Given the description of an element on the screen output the (x, y) to click on. 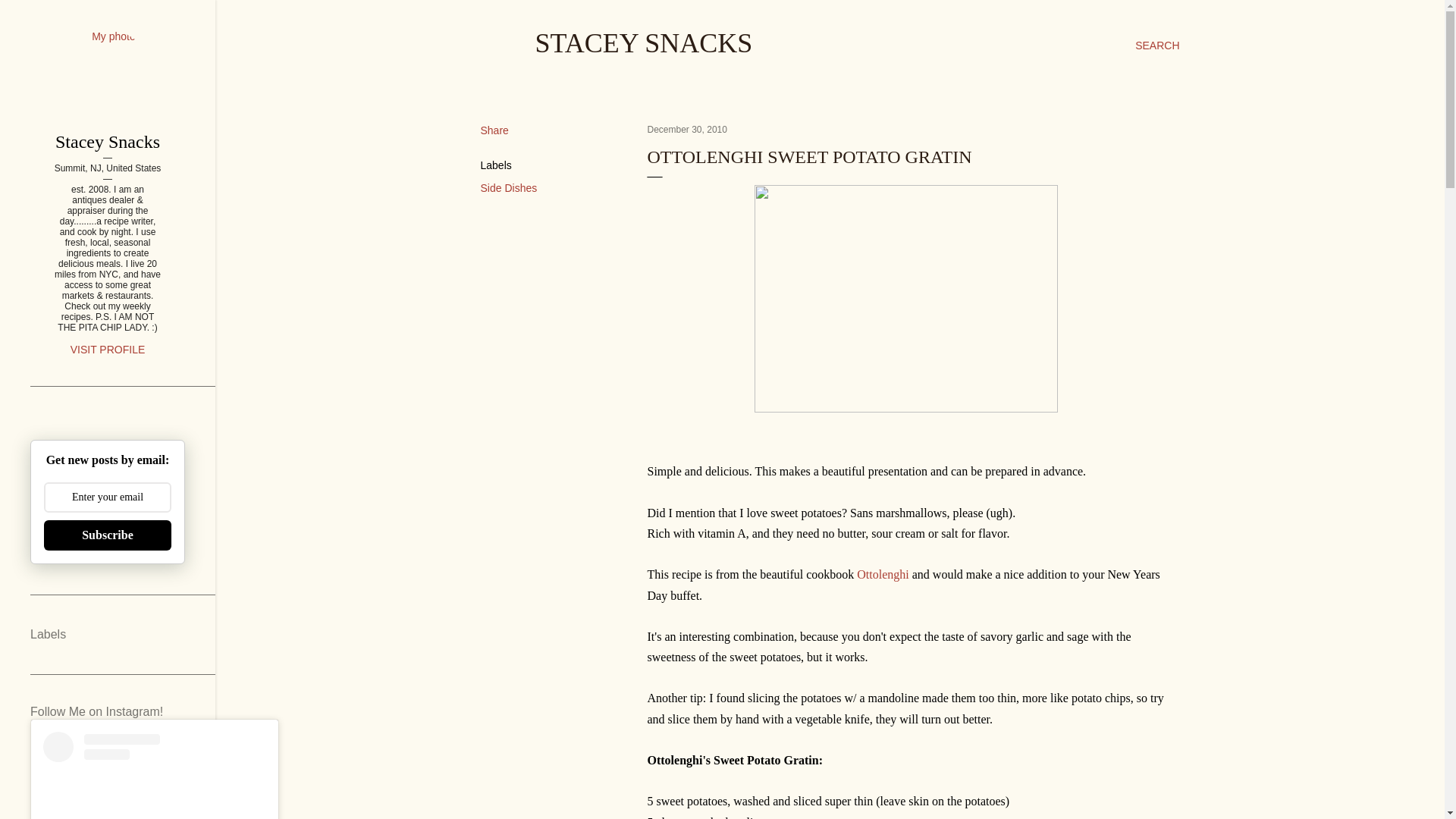
permanent link (686, 129)
Share (494, 130)
SEARCH (1157, 45)
Ottolenghi (882, 574)
December 30, 2010 (686, 129)
STACEY SNACKS (643, 42)
Side Dishes (508, 187)
